Given the description of an element on the screen output the (x, y) to click on. 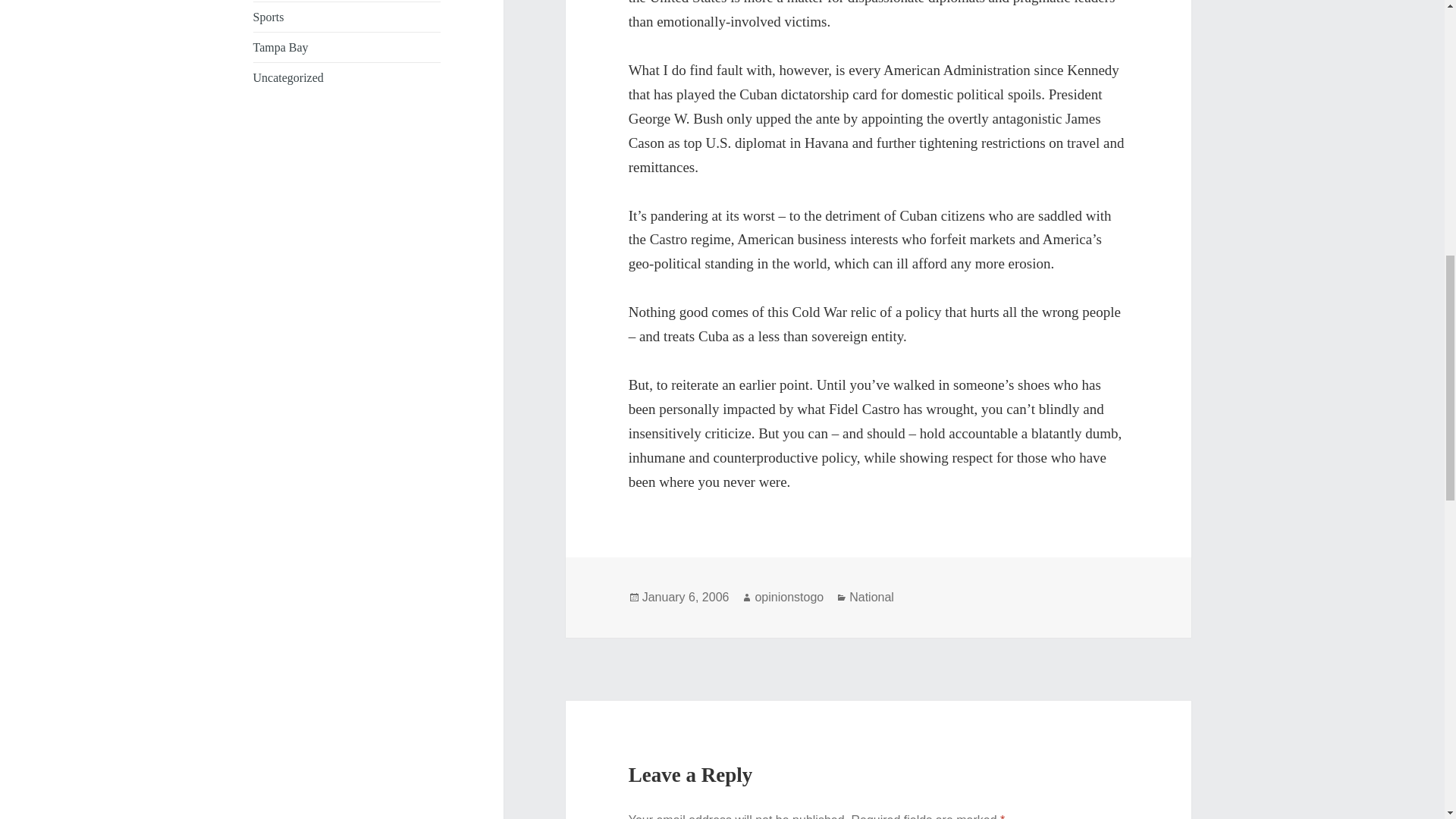
National (870, 597)
Tampa Bay (280, 47)
January 6, 2006 (685, 597)
opinionstogo (789, 597)
Sports (268, 16)
Uncategorized (288, 77)
